Given the description of an element on the screen output the (x, y) to click on. 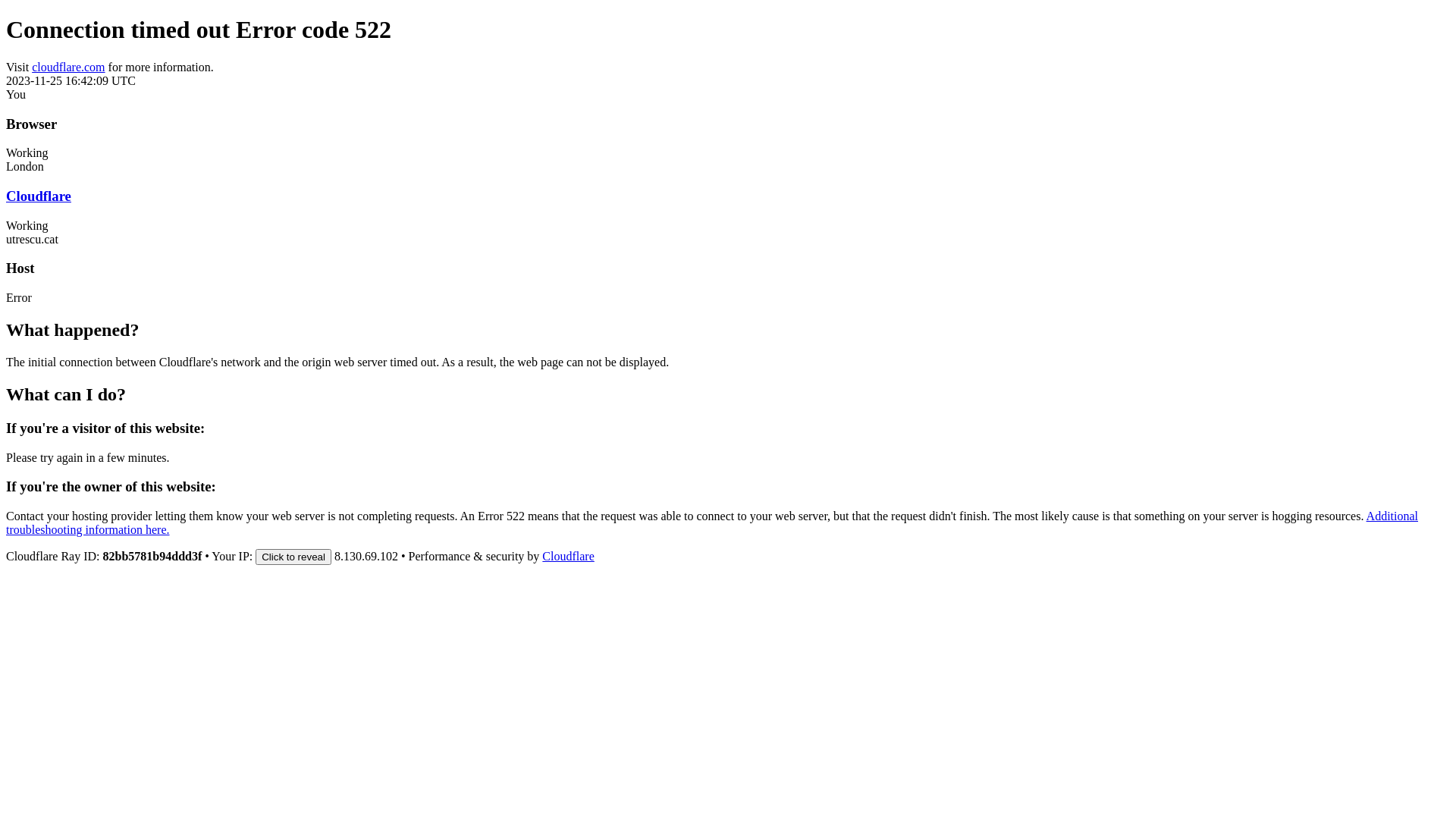
Click to reveal Element type: text (293, 556)
Cloudflare Element type: text (567, 555)
cloudflare.com Element type: text (67, 66)
Cloudflare Element type: text (38, 195)
Additional troubleshooting information here. Element type: text (712, 522)
